Given the description of an element on the screen output the (x, y) to click on. 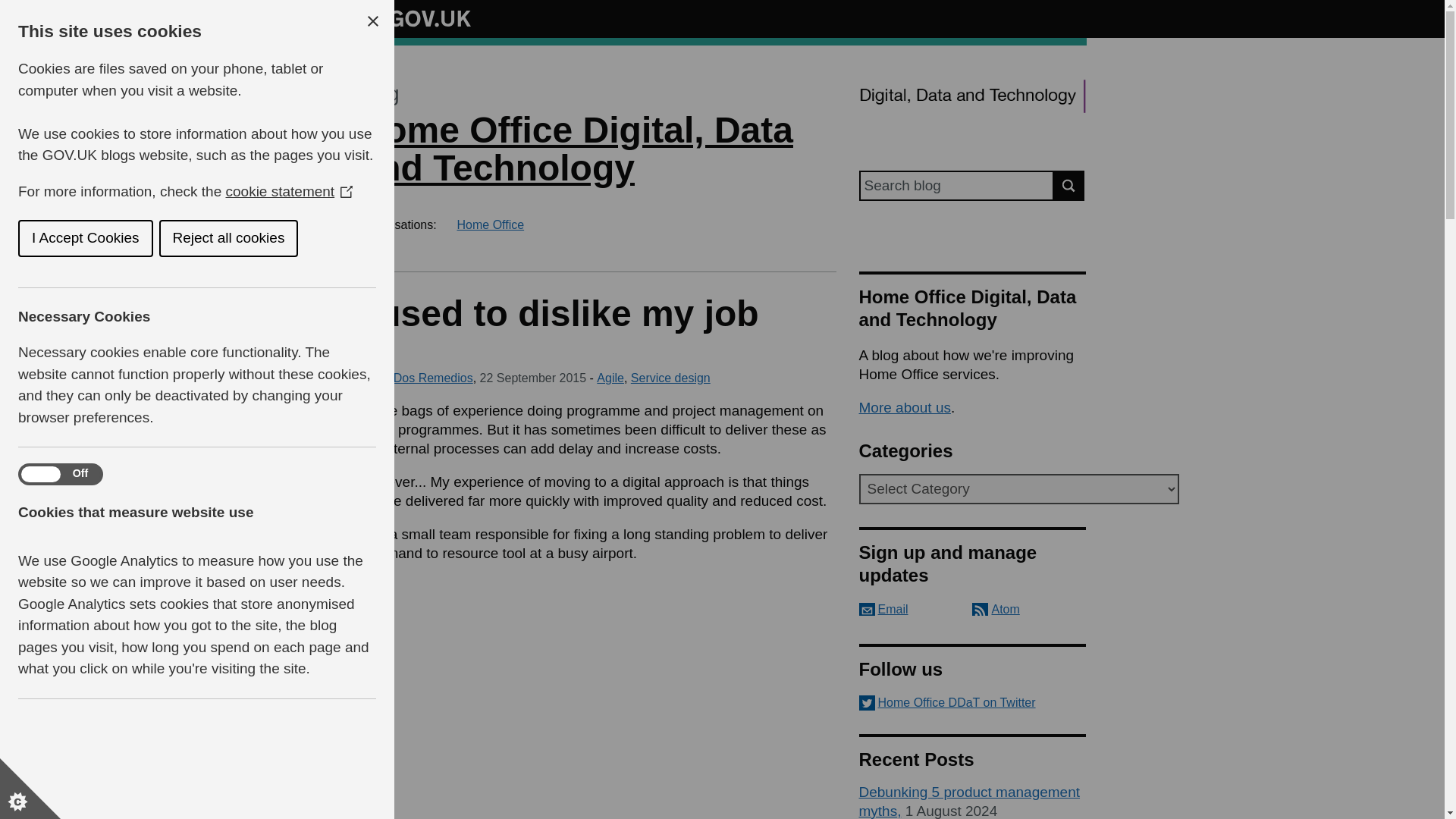
Service design (670, 377)
Search (1069, 185)
Posts by Julian Dos Remedios (414, 377)
Go to the GOV.UK homepage (414, 18)
Reject all cookies (112, 238)
Debunking 5 product management myths (969, 801)
Atom (995, 608)
GOV.UK (414, 18)
Search (1069, 185)
Julian Dos Remedios (414, 377)
